Given the description of an element on the screen output the (x, y) to click on. 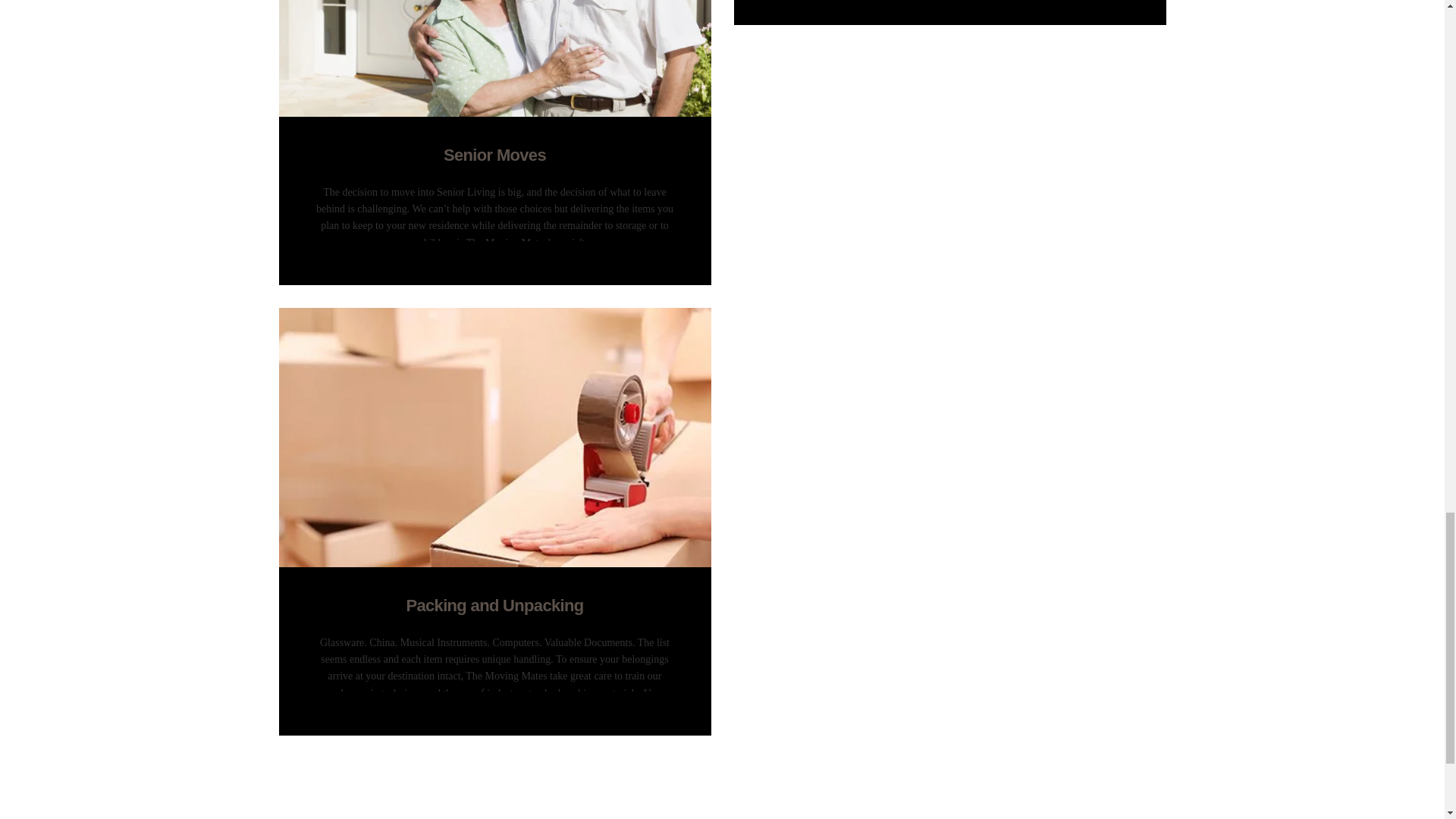
Packing and Unpacking (495, 605)
Senior Moves (495, 155)
